Given the description of an element on the screen output the (x, y) to click on. 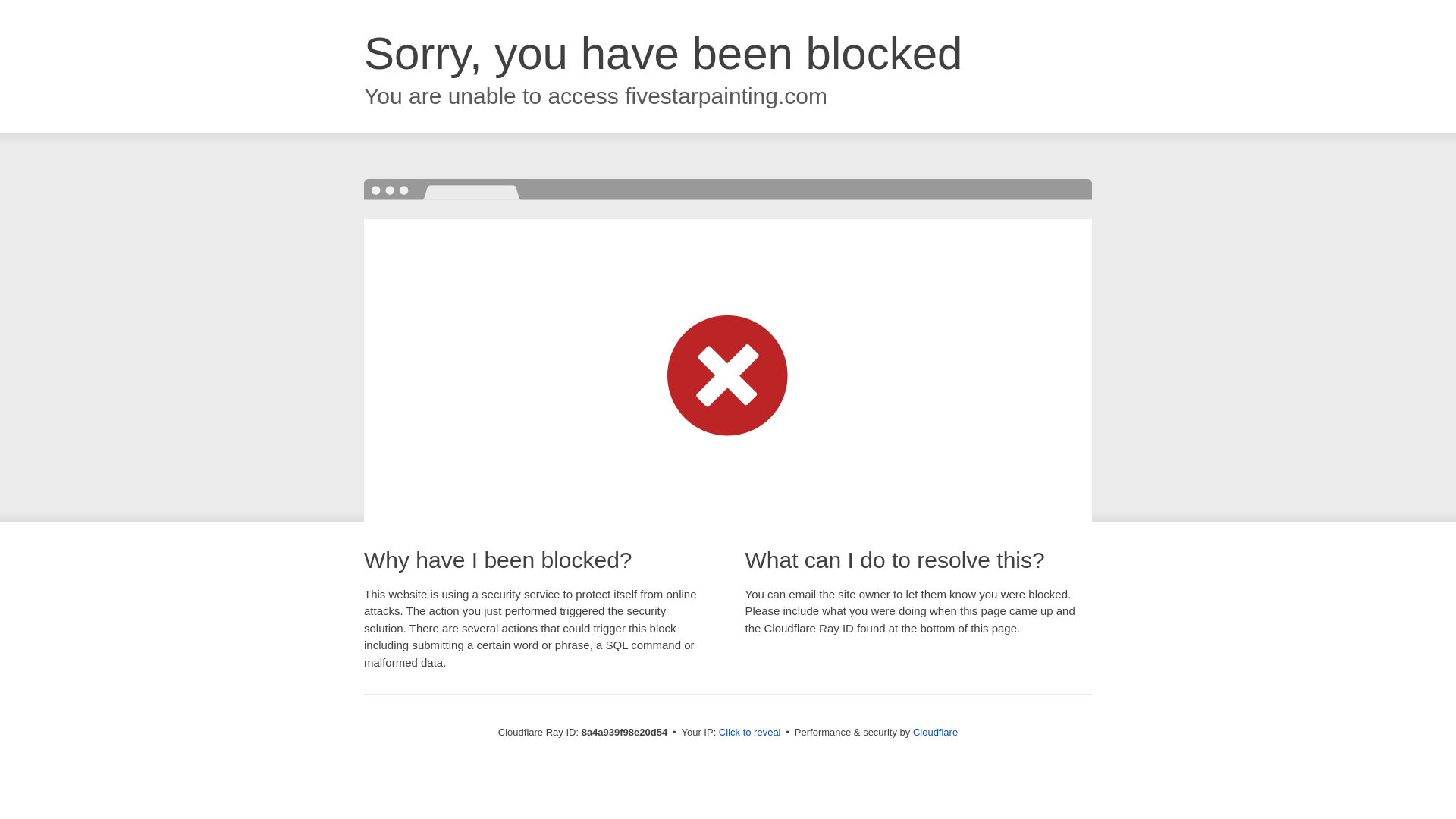
Cloudflare (935, 731)
Click to reveal (749, 732)
